Given the description of an element on the screen output the (x, y) to click on. 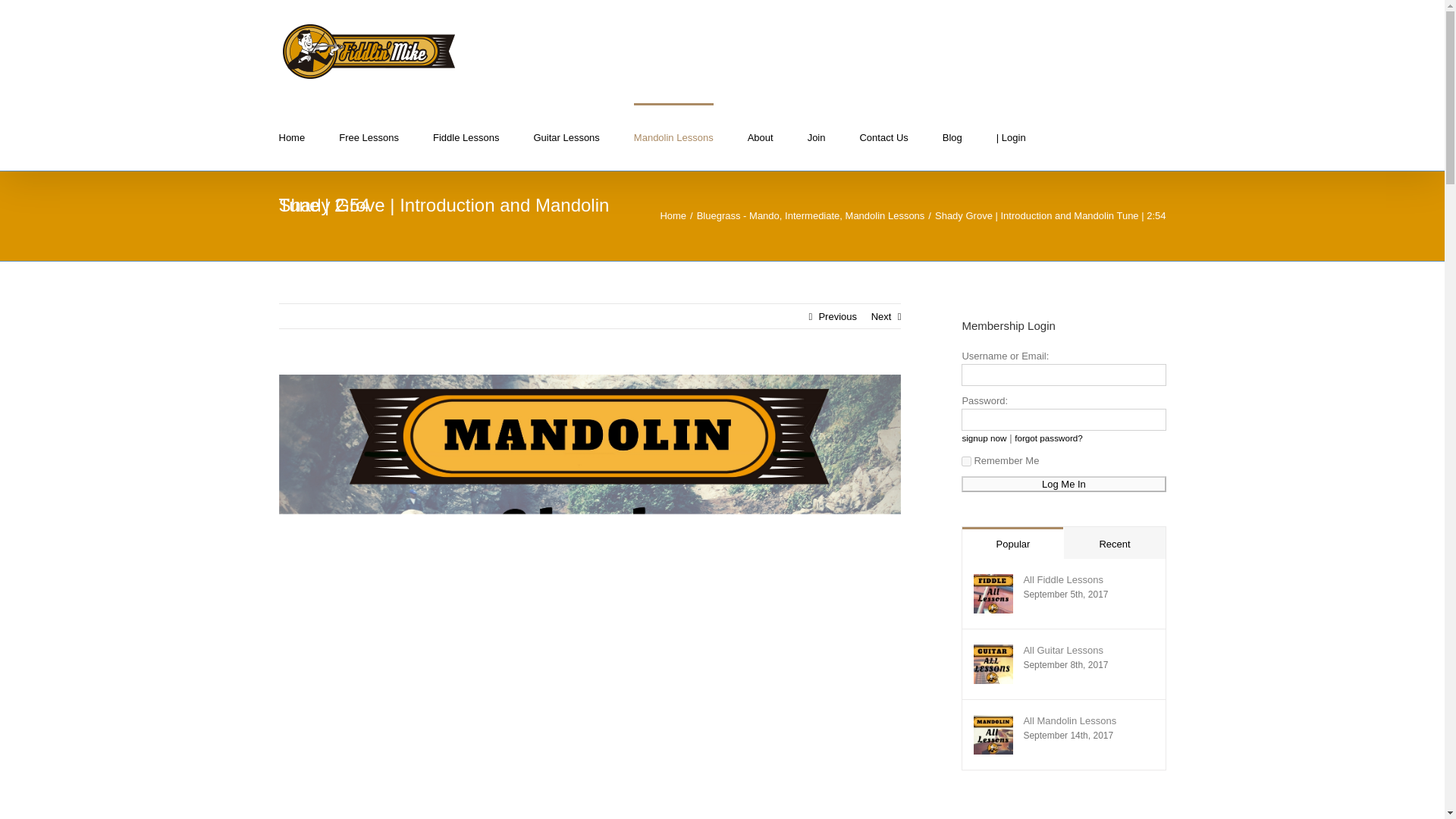
Log Me In (1063, 483)
Mandolin Lessons (673, 136)
forever (965, 461)
Password (1063, 419)
Username (1063, 374)
Free Lessons (368, 136)
Fiddle Lessons (465, 136)
Guitar Lessons (565, 136)
